Given the description of an element on the screen output the (x, y) to click on. 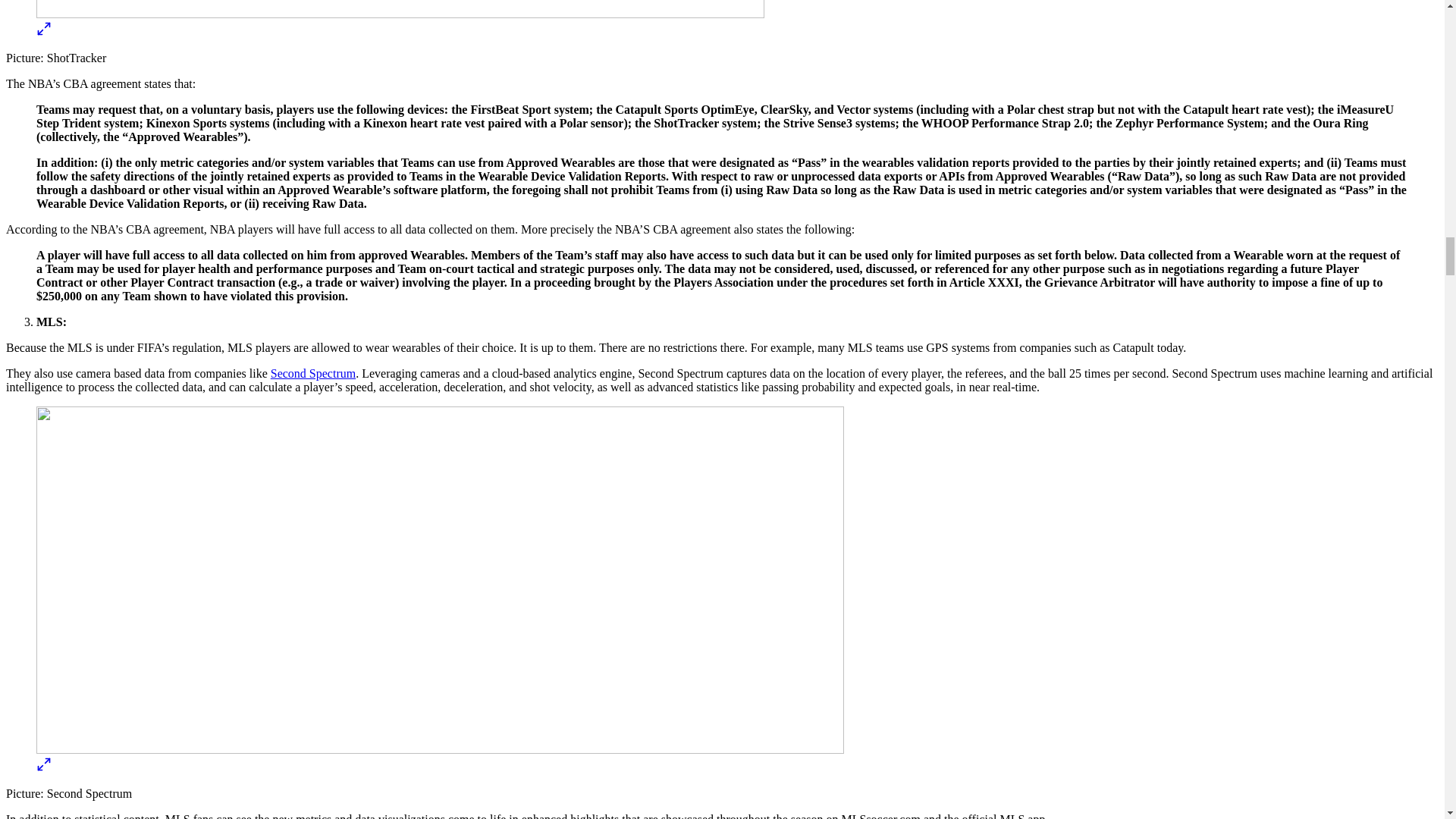
Second Spectrum (312, 373)
